Given the description of an element on the screen output the (x, y) to click on. 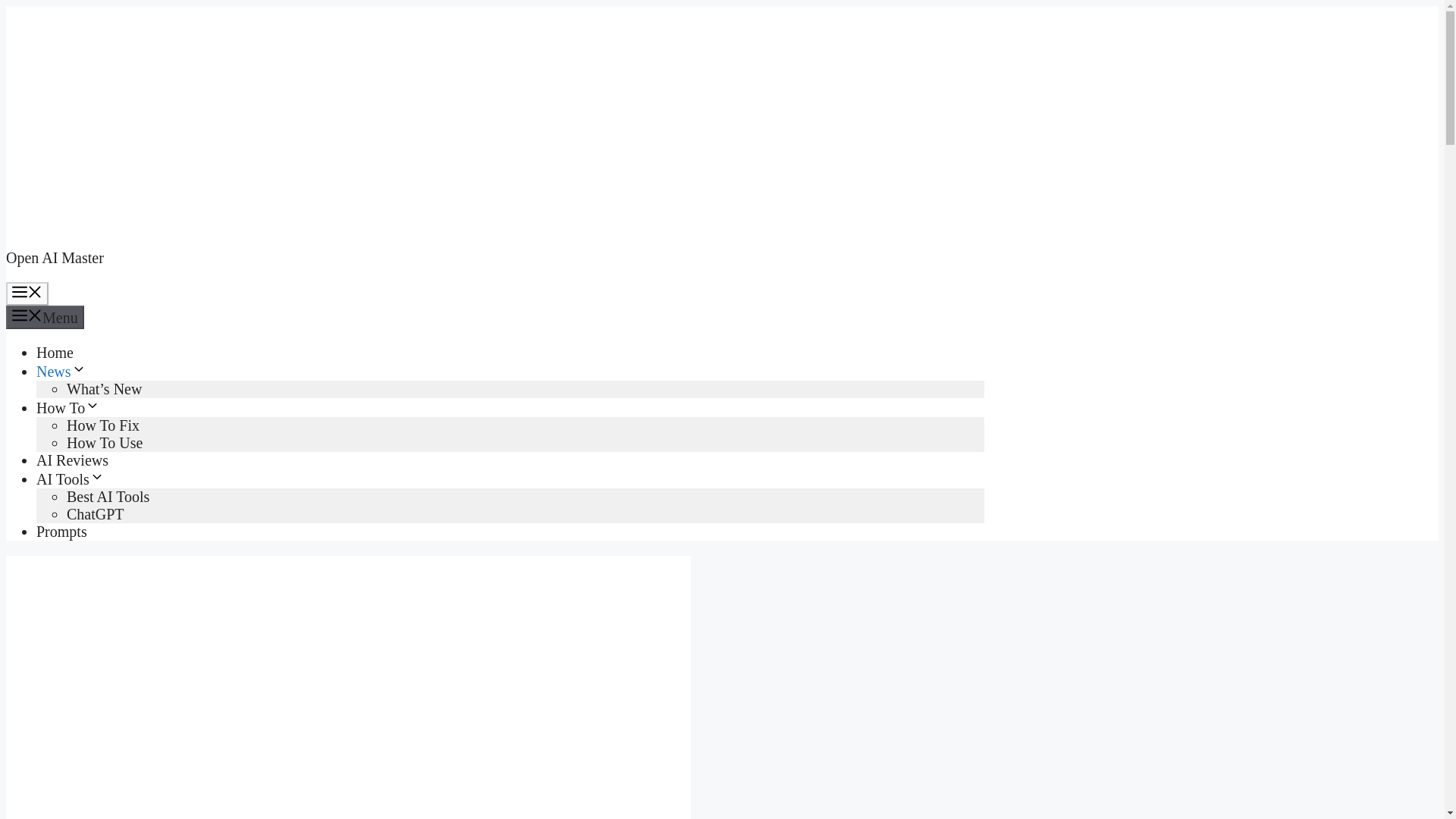
Menu (26, 293)
News (60, 371)
Best AI Tools (107, 496)
Prompts (61, 531)
AI Reviews (71, 460)
Menu (44, 317)
How To (68, 407)
Home (55, 352)
How To Use (104, 442)
How To Fix (102, 425)
AI Tools (70, 478)
ChatGPT (94, 514)
Open AI Master (54, 257)
